Given the description of an element on the screen output the (x, y) to click on. 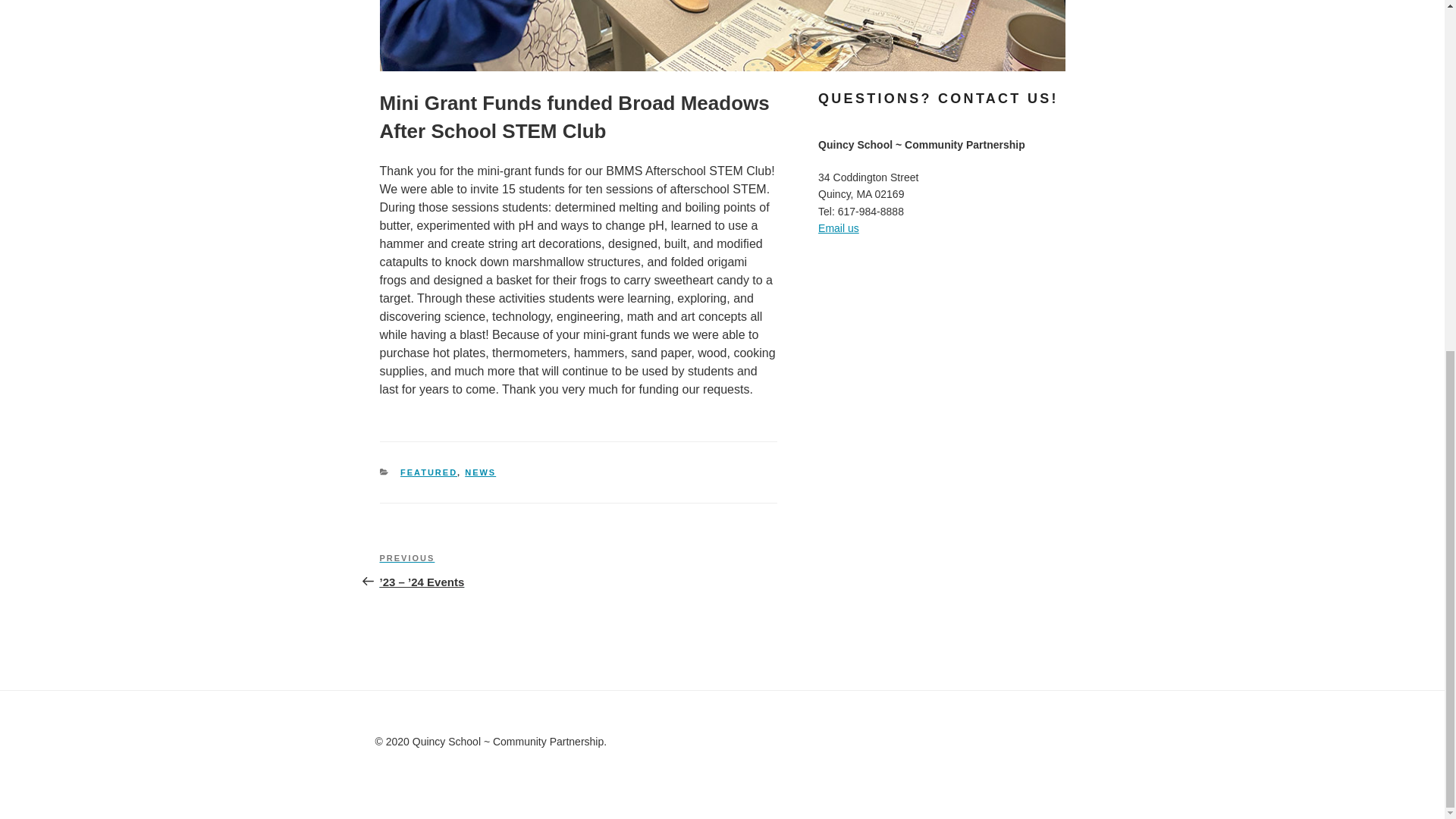
featured-feb2024 (721, 35)
NEWS (480, 471)
Email us (838, 227)
FEATURED (428, 471)
